Given the description of an element on the screen output the (x, y) to click on. 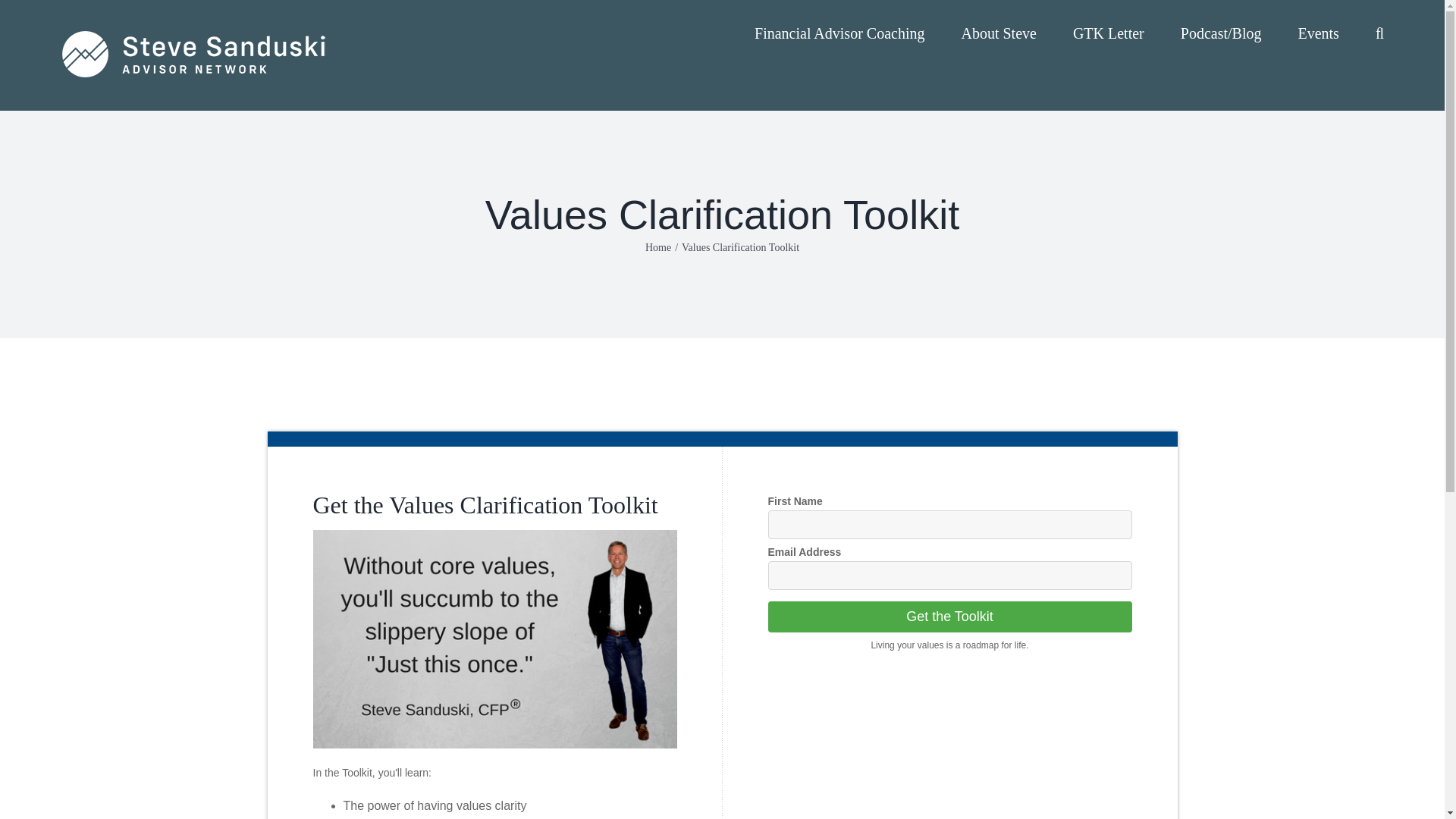
Get the Toolkit (949, 616)
GTK Letter (1108, 31)
Financial Advisor Coaching (839, 31)
Home (658, 247)
About Steve (997, 31)
